Given the description of an element on the screen output the (x, y) to click on. 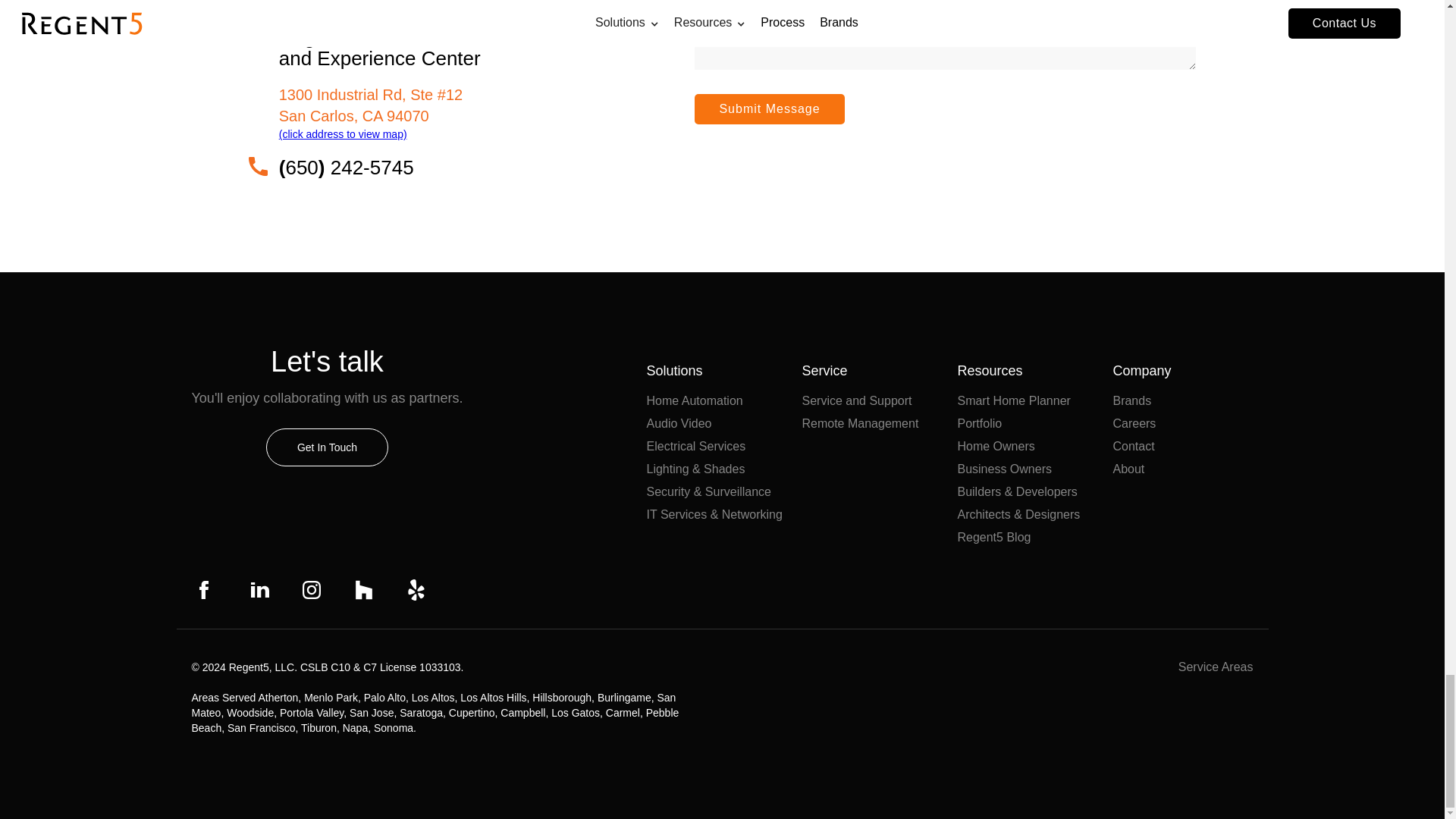
Submit Message (769, 109)
